Given the description of an element on the screen output the (x, y) to click on. 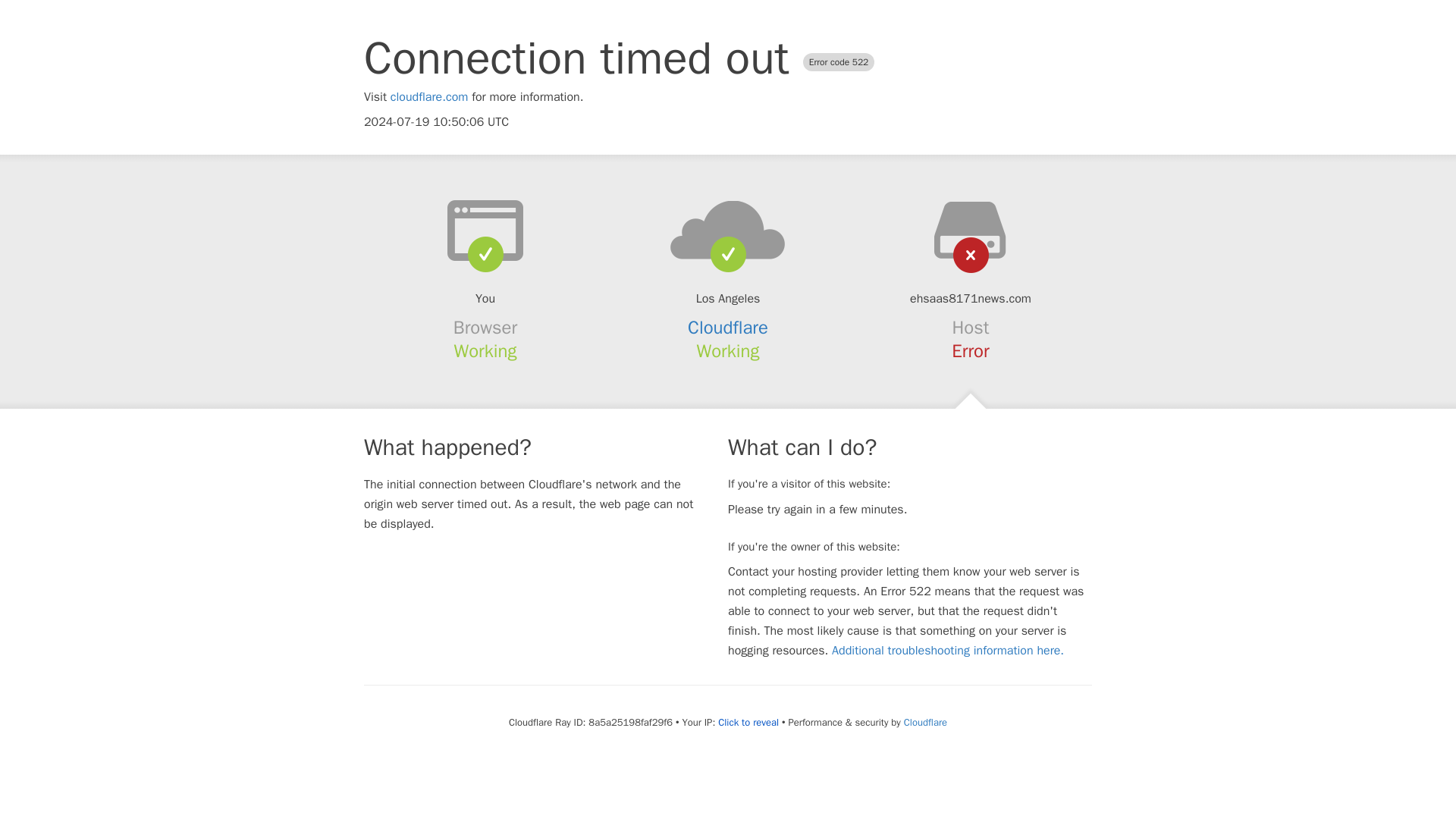
cloudflare.com (429, 96)
Additional troubleshooting information here. (947, 650)
Cloudflare (727, 327)
Click to reveal (747, 722)
Cloudflare (925, 721)
